Given the description of an element on the screen output the (x, y) to click on. 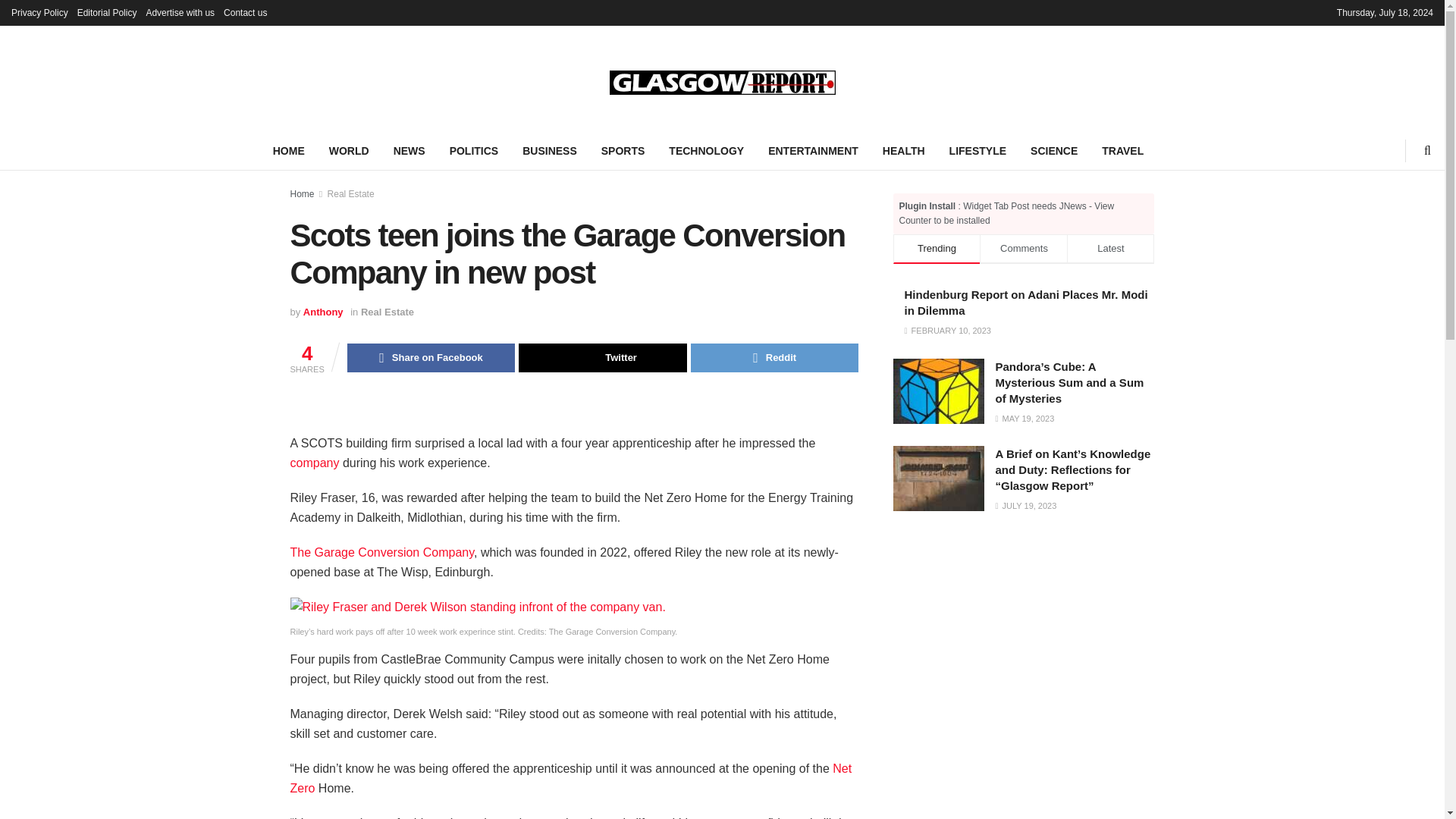
Advertise with us (179, 12)
Privacy Policy (39, 12)
ENTERTAINMENT (812, 150)
Home (301, 194)
TECHNOLOGY (705, 150)
Twitter (602, 357)
LIFESTYLE (977, 150)
HEALTH (903, 150)
Net Zero (570, 778)
Anthony (322, 311)
Editorial Policy (106, 12)
Real Estate (387, 311)
TRAVEL (1122, 150)
Real Estate (350, 194)
SPORTS (623, 150)
